Given the description of an element on the screen output the (x, y) to click on. 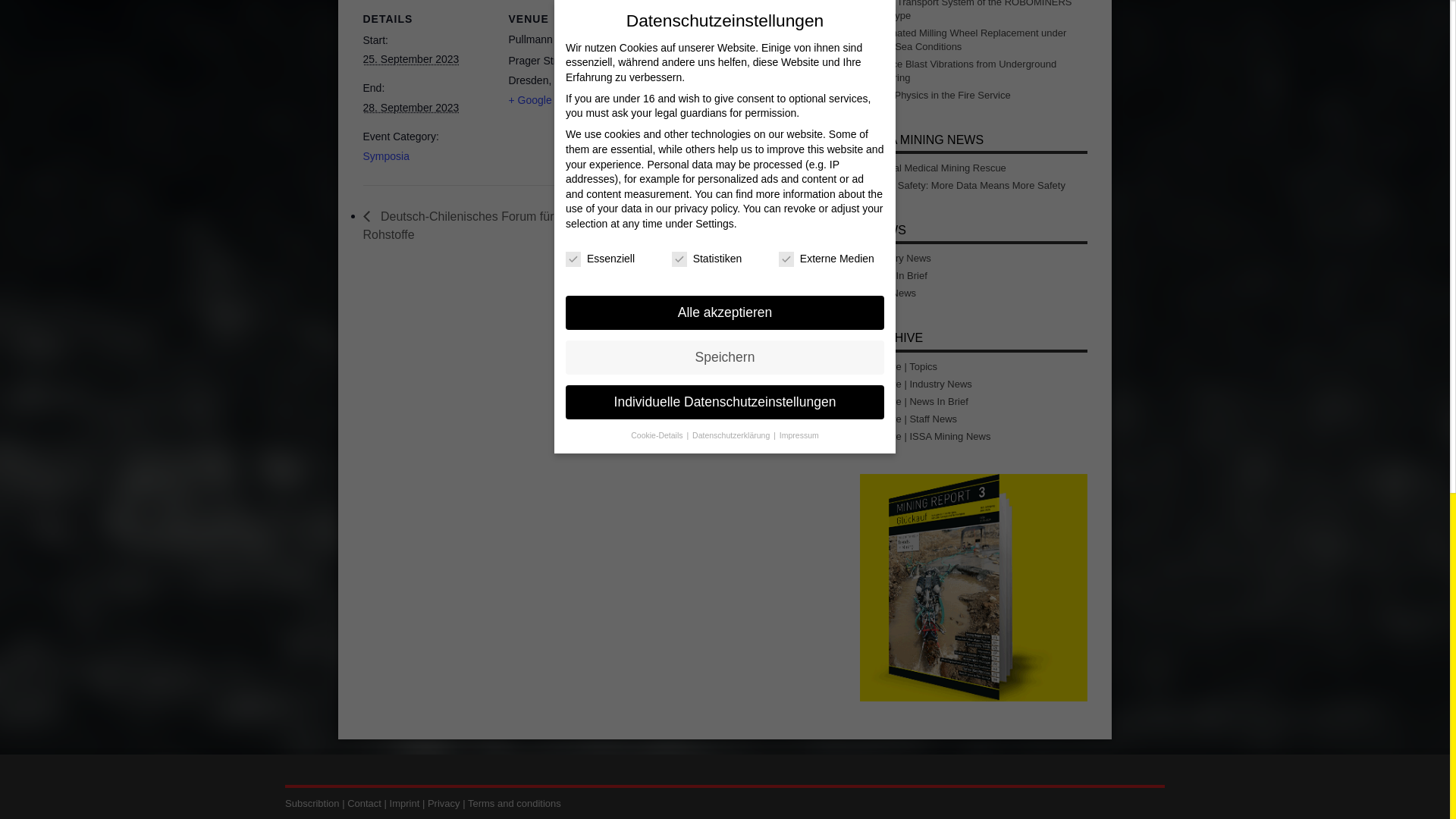
2023-09-25 (410, 59)
Symposia (385, 155)
2023-09-28 (410, 107)
Click to view a Google Map (541, 100)
PERUMIN 36 (780, 225)
